Given the description of an element on the screen output the (x, y) to click on. 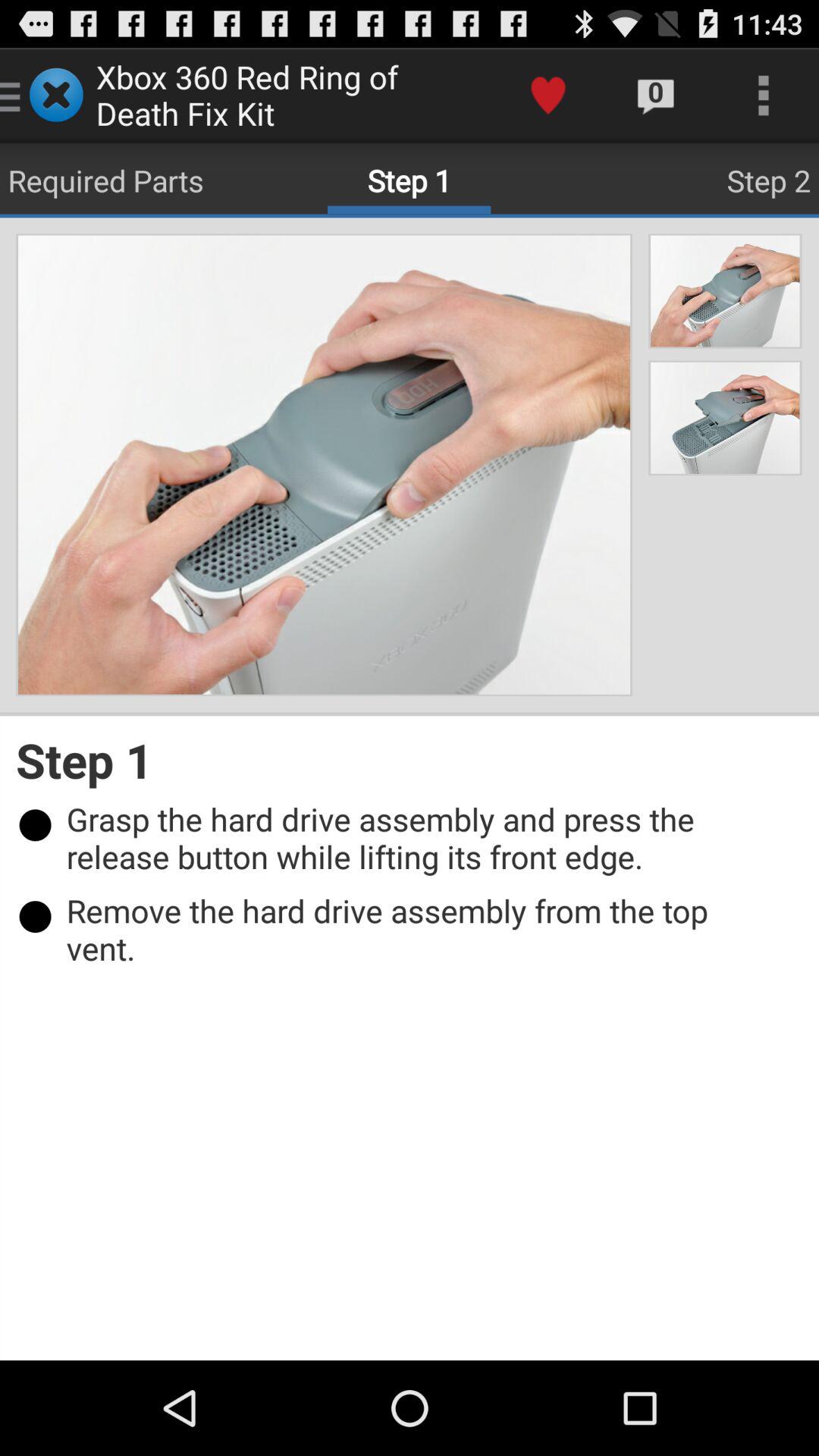
open the icon to the right of the xbox 360 red icon (548, 95)
